Given the description of an element on the screen output the (x, y) to click on. 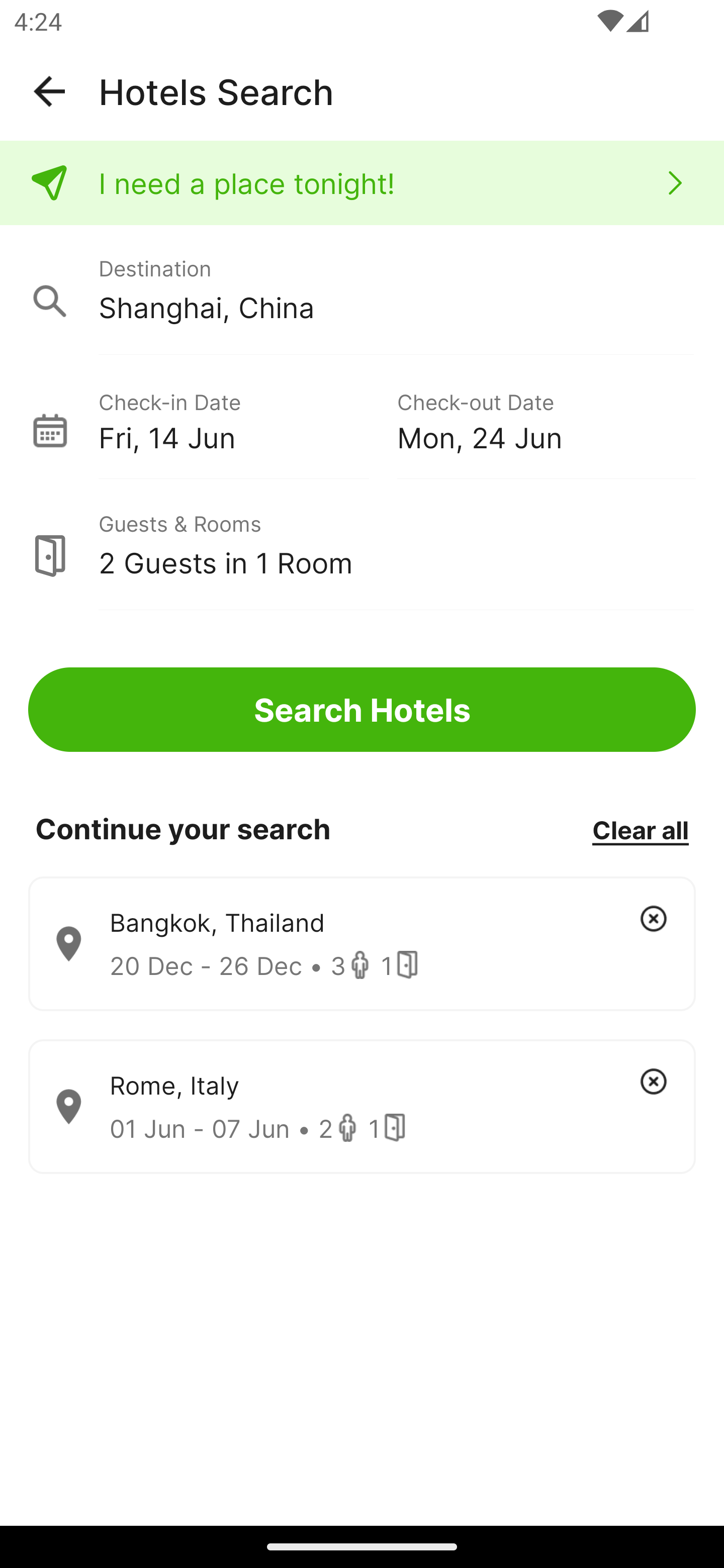
I need a place tonight! (362, 183)
Destination Shanghai, China (362, 290)
Check-in Date Fri, 14 Jun (247, 418)
Check-out Date Mon, 24 Jun (546, 418)
Guests & Rooms 2 Guests in 1 Room (362, 545)
Search Hotels (361, 709)
Clear all (640, 829)
Bangkok, Thailand 20 Dec - 26 Dec • 3  1  (361, 943)
Rome, Italy 01 Jun - 07 Jun • 2  1  (361, 1106)
